Given the description of an element on the screen output the (x, y) to click on. 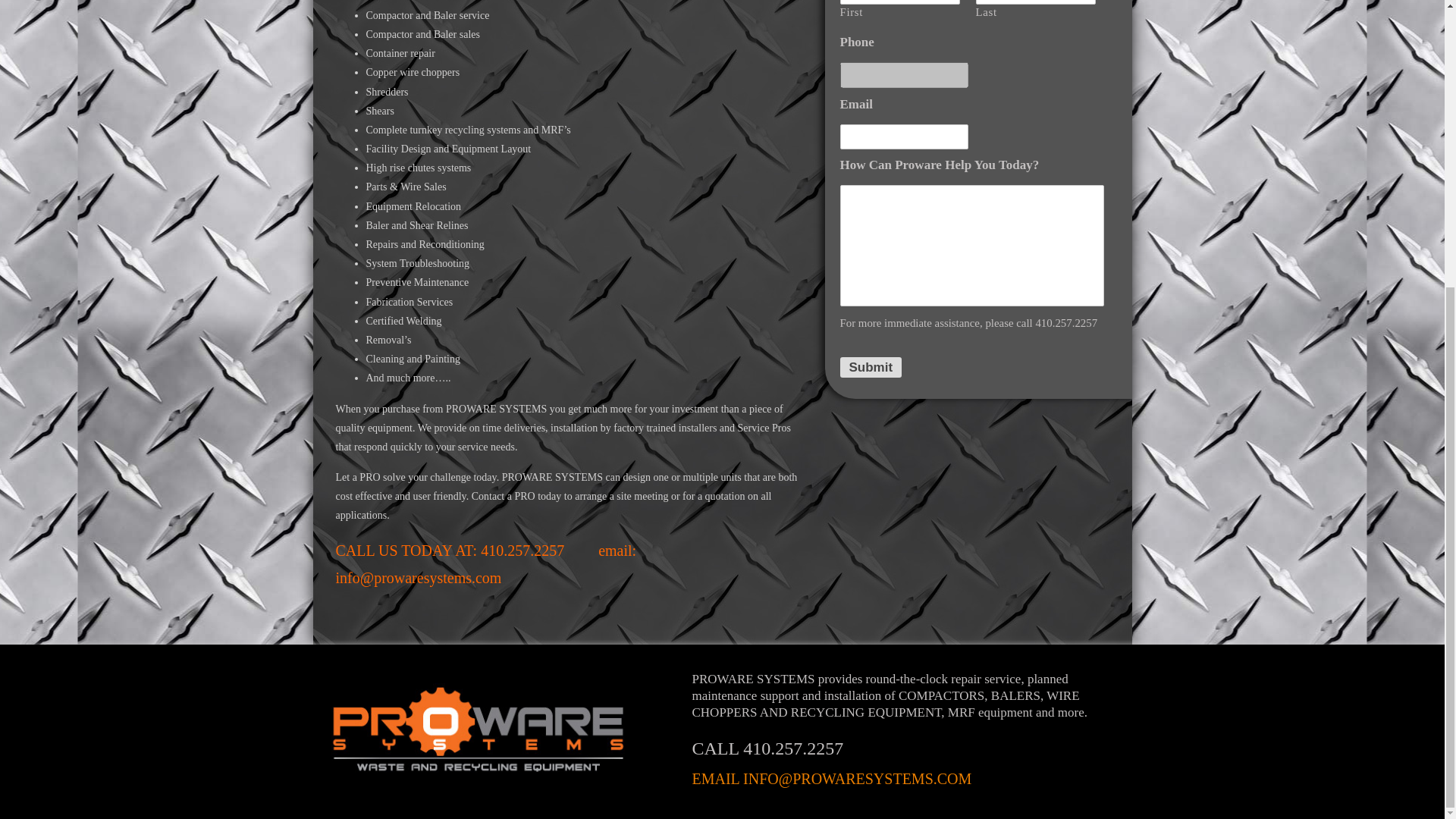
Submit (871, 367)
Submit (871, 367)
